Given the description of an element on the screen output the (x, y) to click on. 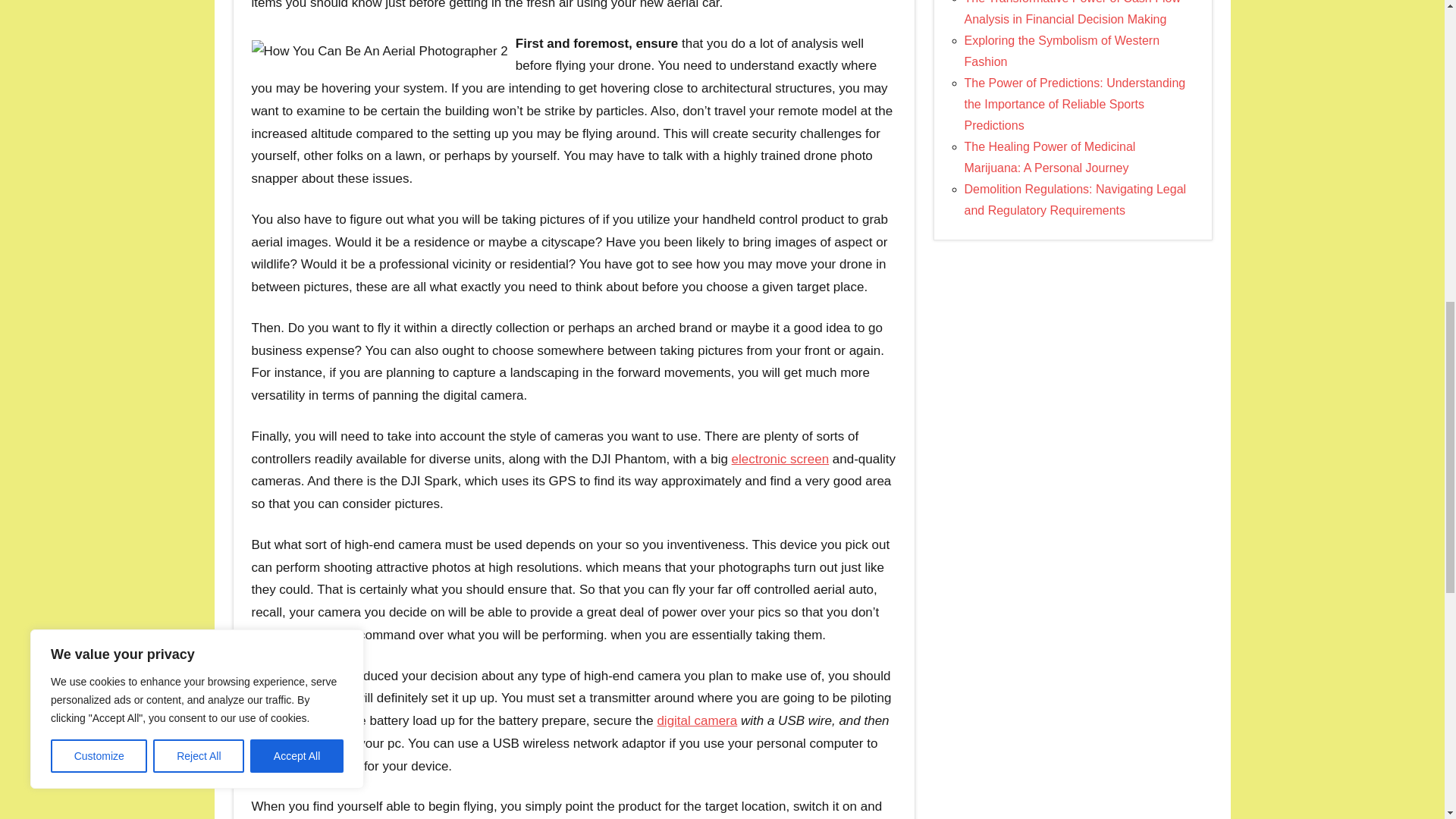
electronic screen (780, 459)
digital camera (696, 720)
